Given the description of an element on the screen output the (x, y) to click on. 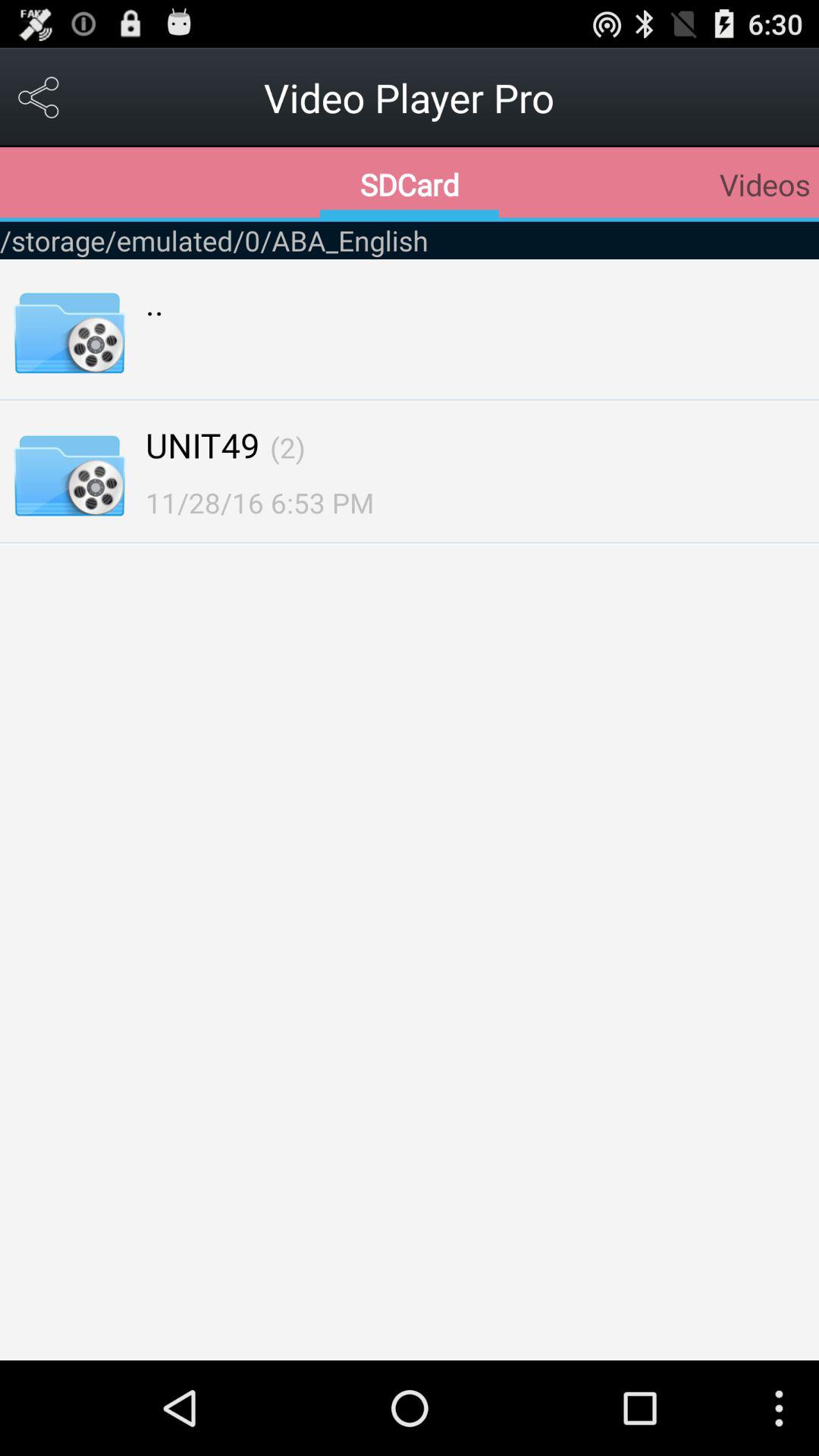
select 11 28 16 (259, 502)
